Given the description of an element on the screen output the (x, y) to click on. 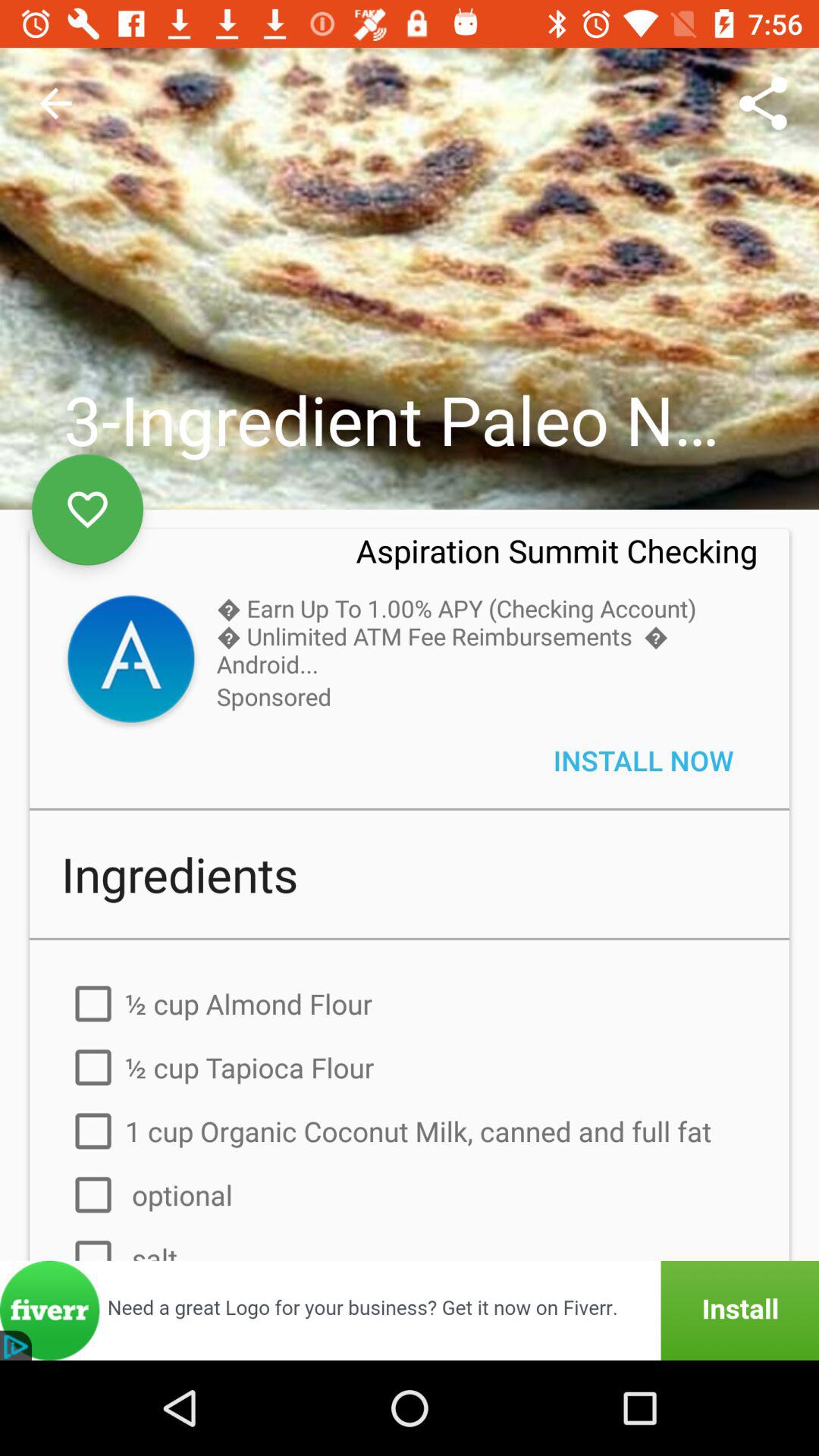
go to the share icon on the right top (763, 103)
select the 12 cup tapioca flour option (409, 1067)
click the third option under ingredients (409, 1131)
select the text which says 12 cup almond flour (409, 1003)
